Given the description of an element on the screen output the (x, y) to click on. 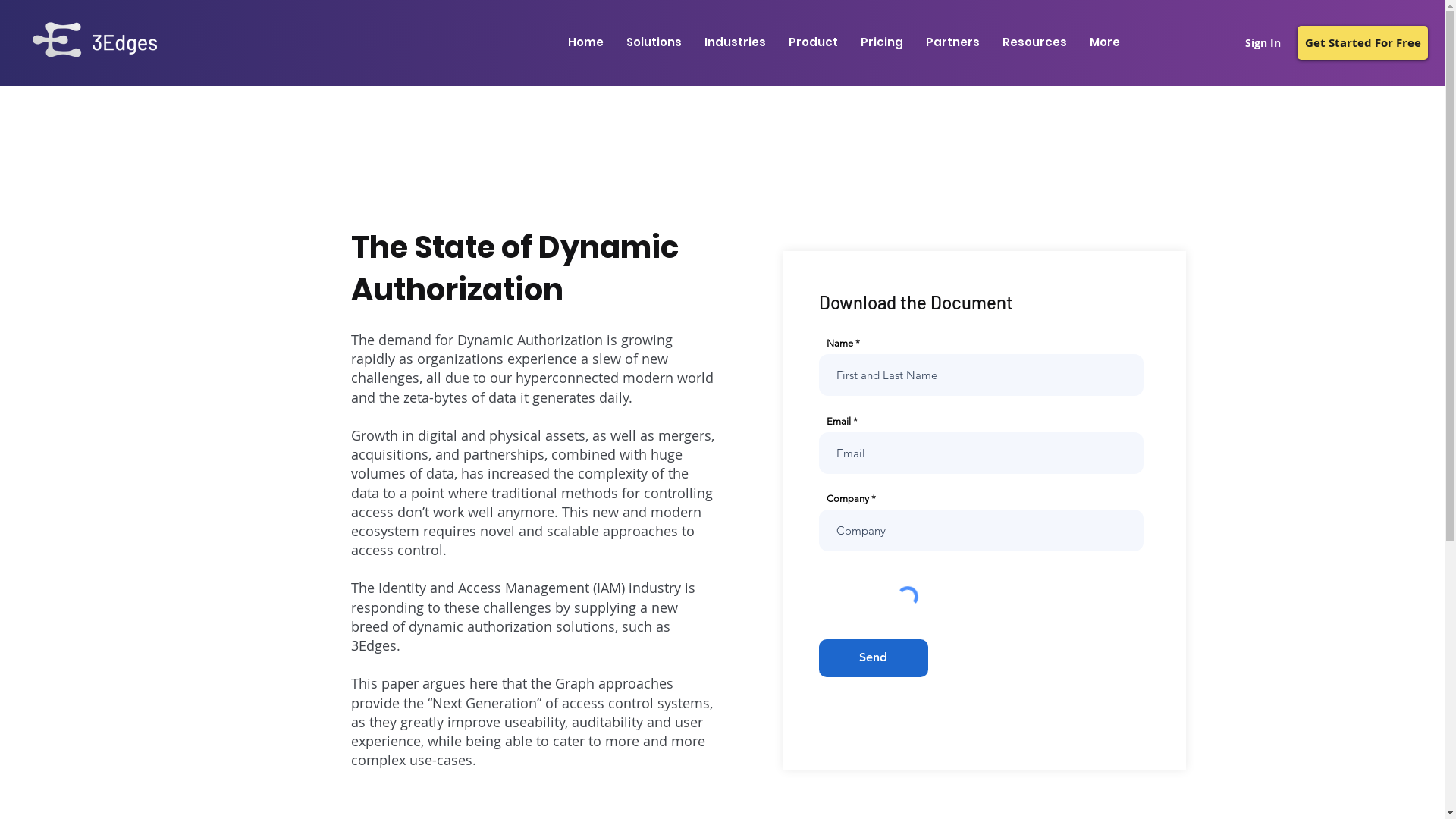
Get Started For Free Element type: text (1362, 42)
Home Element type: text (585, 42)
Solutions Element type: text (654, 42)
Send Element type: text (873, 658)
Resources Element type: text (1034, 42)
Pricing Element type: text (881, 42)
Sign In Element type: text (1262, 42)
Industries Element type: text (735, 42)
Partners Element type: text (952, 42)
Product Element type: text (813, 42)
